Given the description of an element on the screen output the (x, y) to click on. 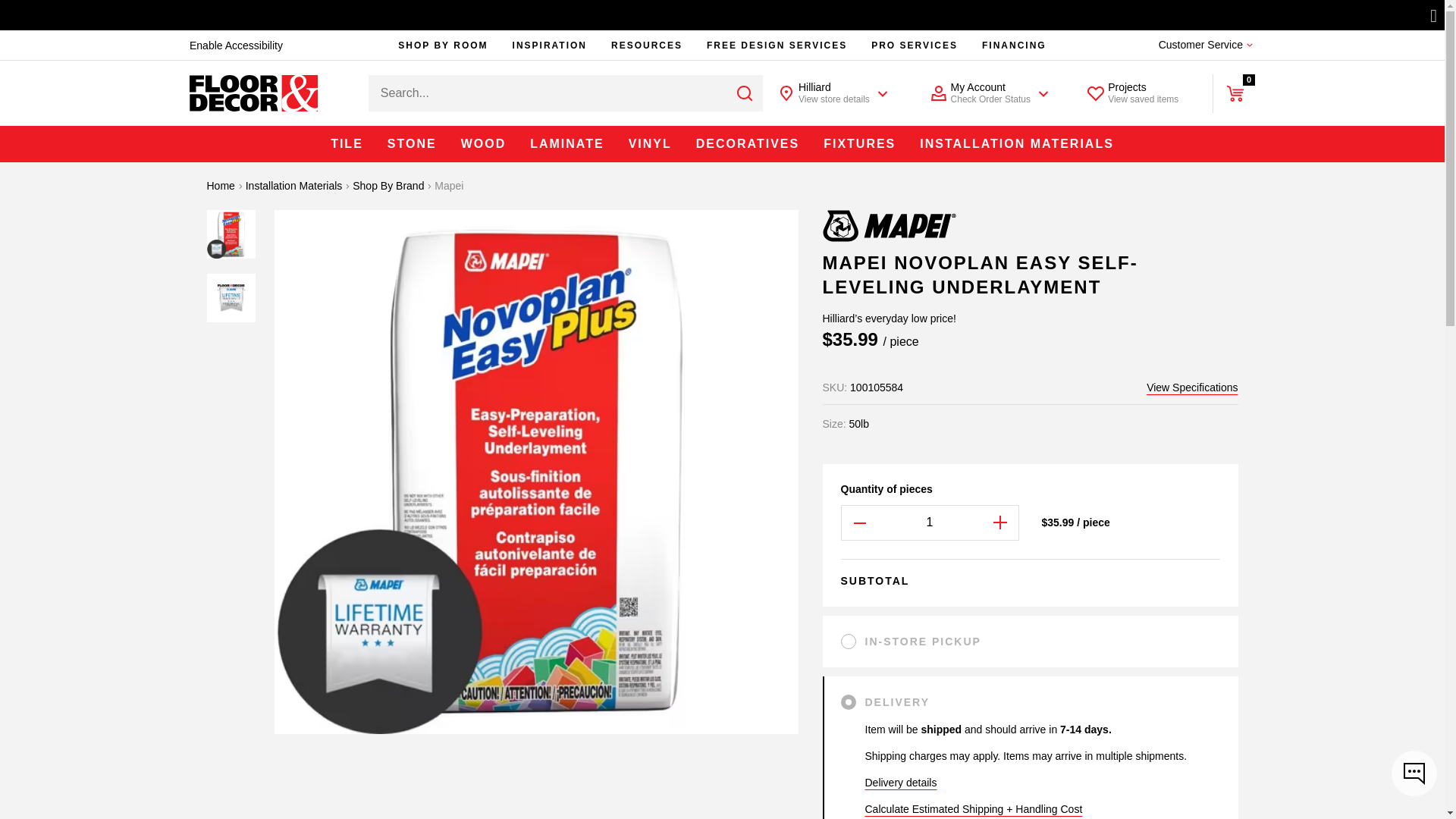
Enable Accessibility (235, 45)
in-store-pickup (845, 638)
1 (930, 522)
Inspiration Category (549, 44)
Shop By Room Category (442, 44)
home-delivery (845, 699)
